Given the description of an element on the screen output the (x, y) to click on. 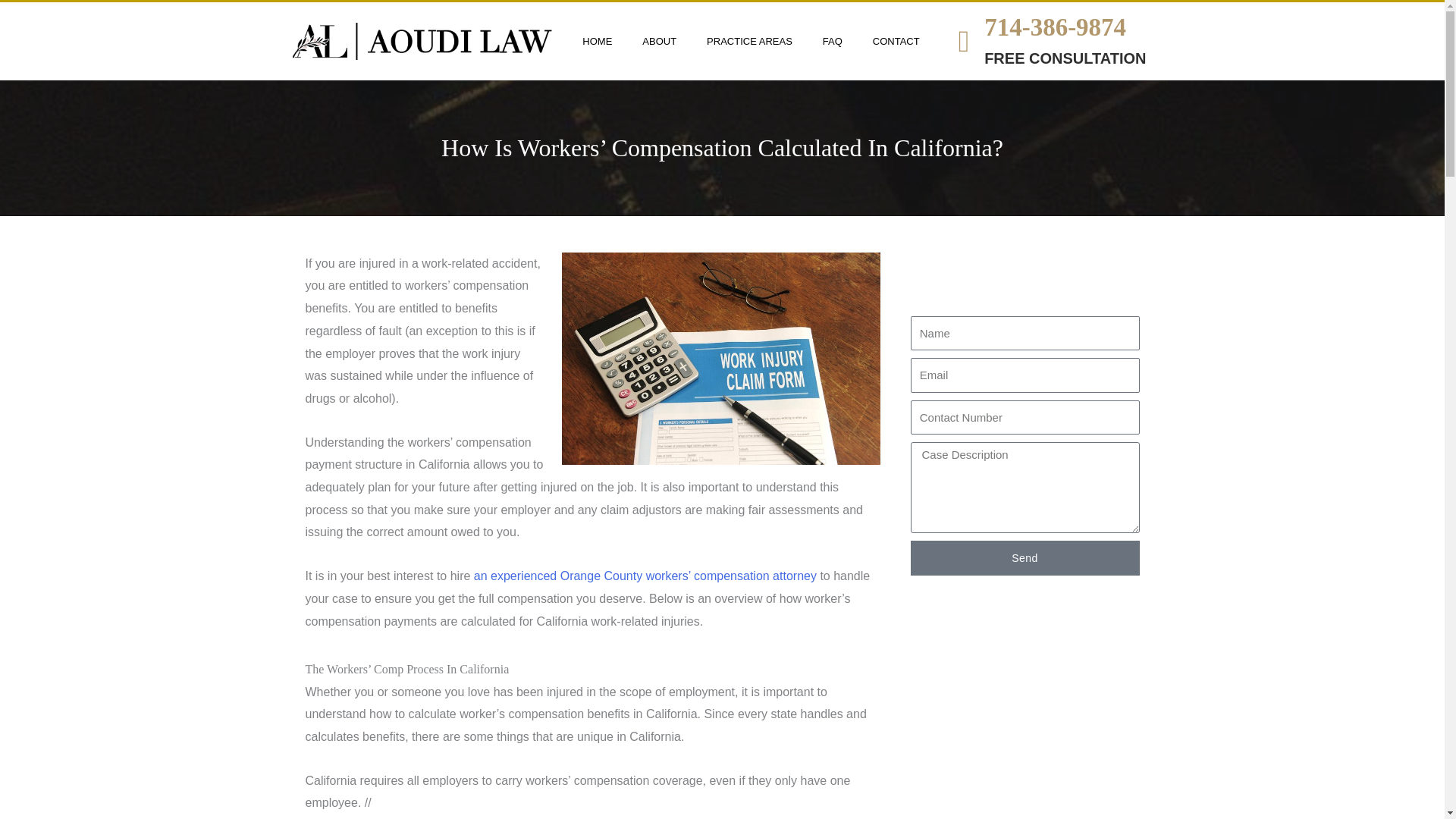
HOME (597, 41)
714-386-9874 (1054, 26)
CONTACT (895, 41)
ABOUT (659, 41)
PRACTICE AREAS (749, 41)
Send (1024, 557)
FAQ (832, 41)
